Given the description of an element on the screen output the (x, y) to click on. 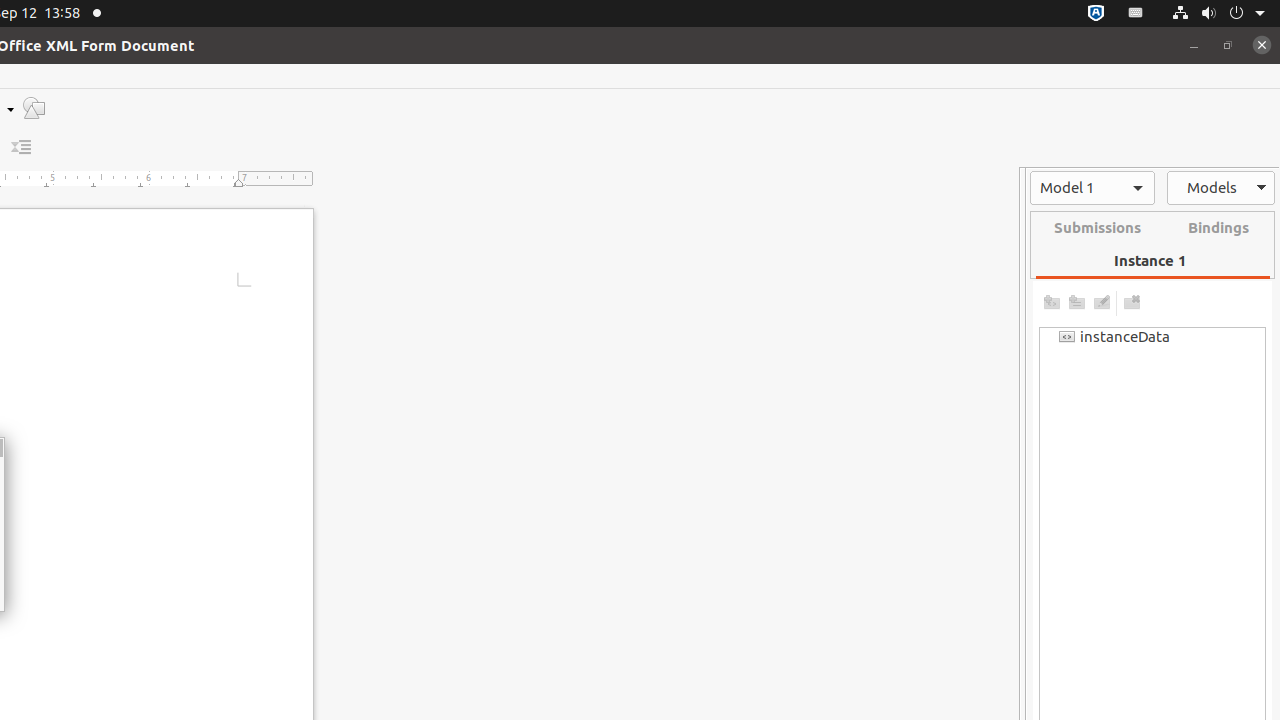
System Element type: menu (1218, 13)
:1.21/StatusNotifierItem Element type: menu (1136, 13)
:1.72/StatusNotifierItem Element type: menu (1096, 13)
